Given the description of an element on the screen output the (x, y) to click on. 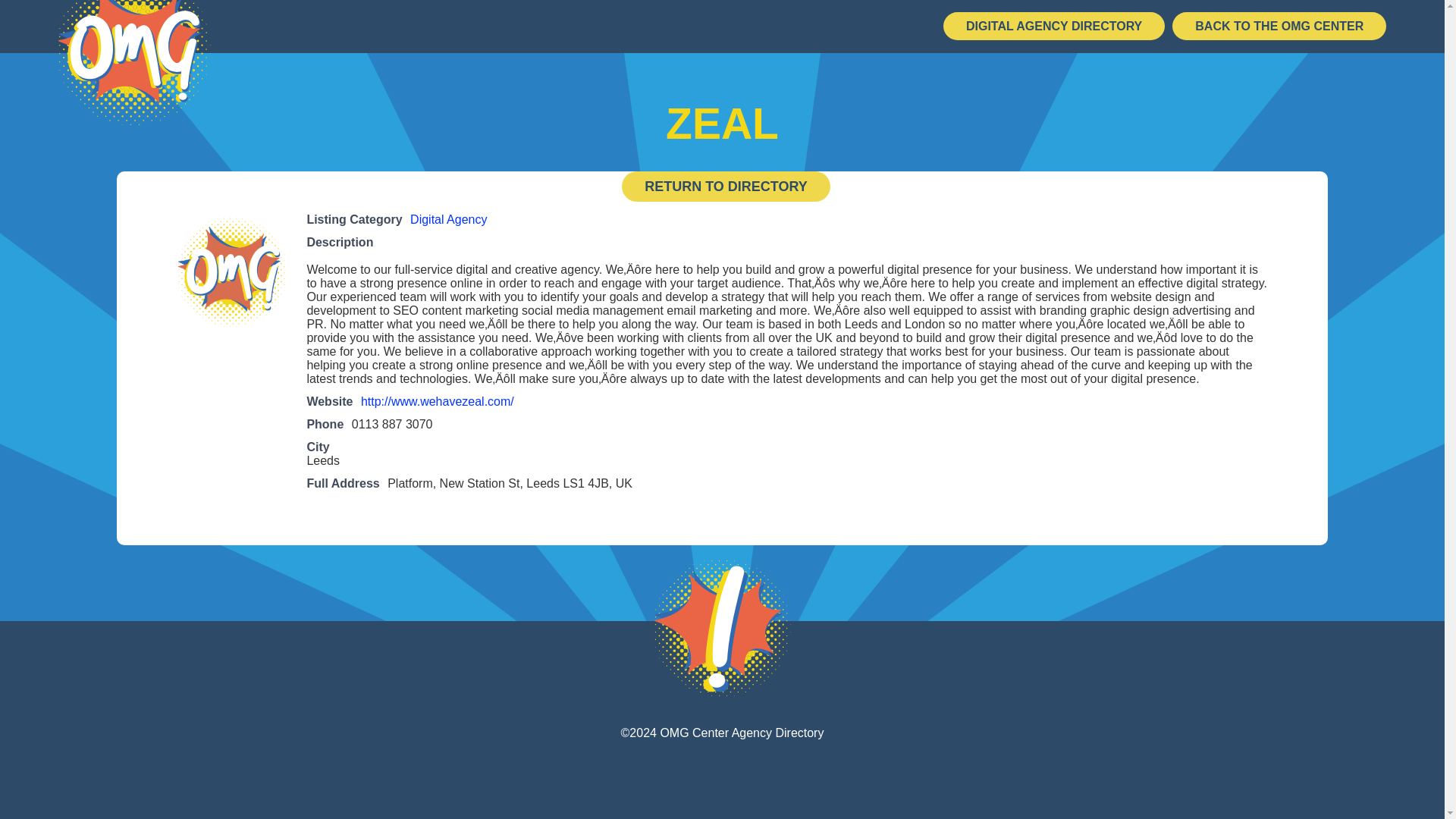
DIGITAL AGENCY DIRECTORY (1053, 26)
BACK TO THE OMG CENTER (1279, 26)
RETURN TO DIRECTORY (725, 186)
Digital Agency (448, 219)
Zeal (231, 269)
